Given the description of an element on the screen output the (x, y) to click on. 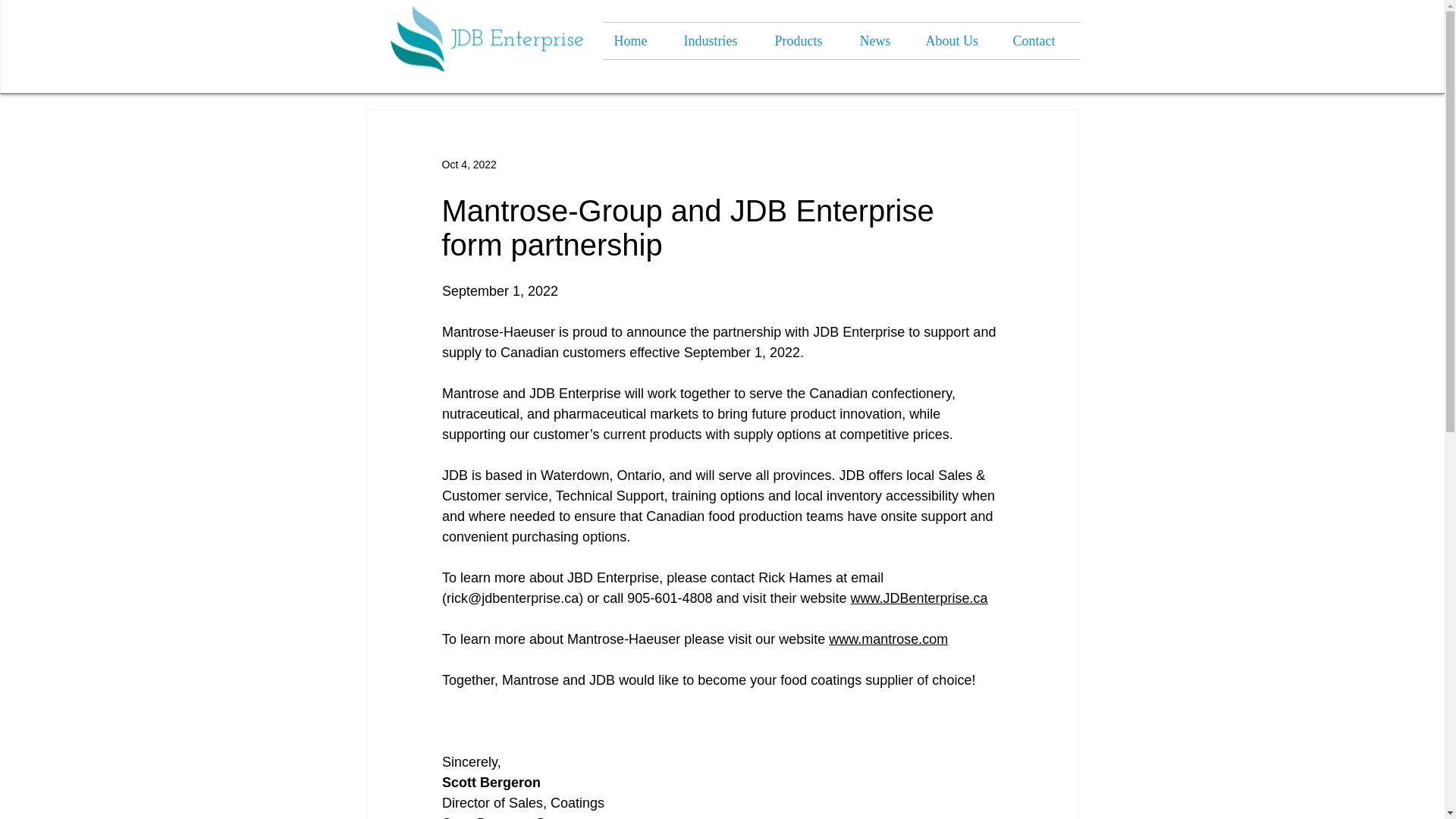
Contact (1040, 40)
Industries (716, 40)
Products (804, 40)
Oct 4, 2022 (468, 163)
About Us (957, 40)
News (880, 40)
Home (636, 40)
